Given the description of an element on the screen output the (x, y) to click on. 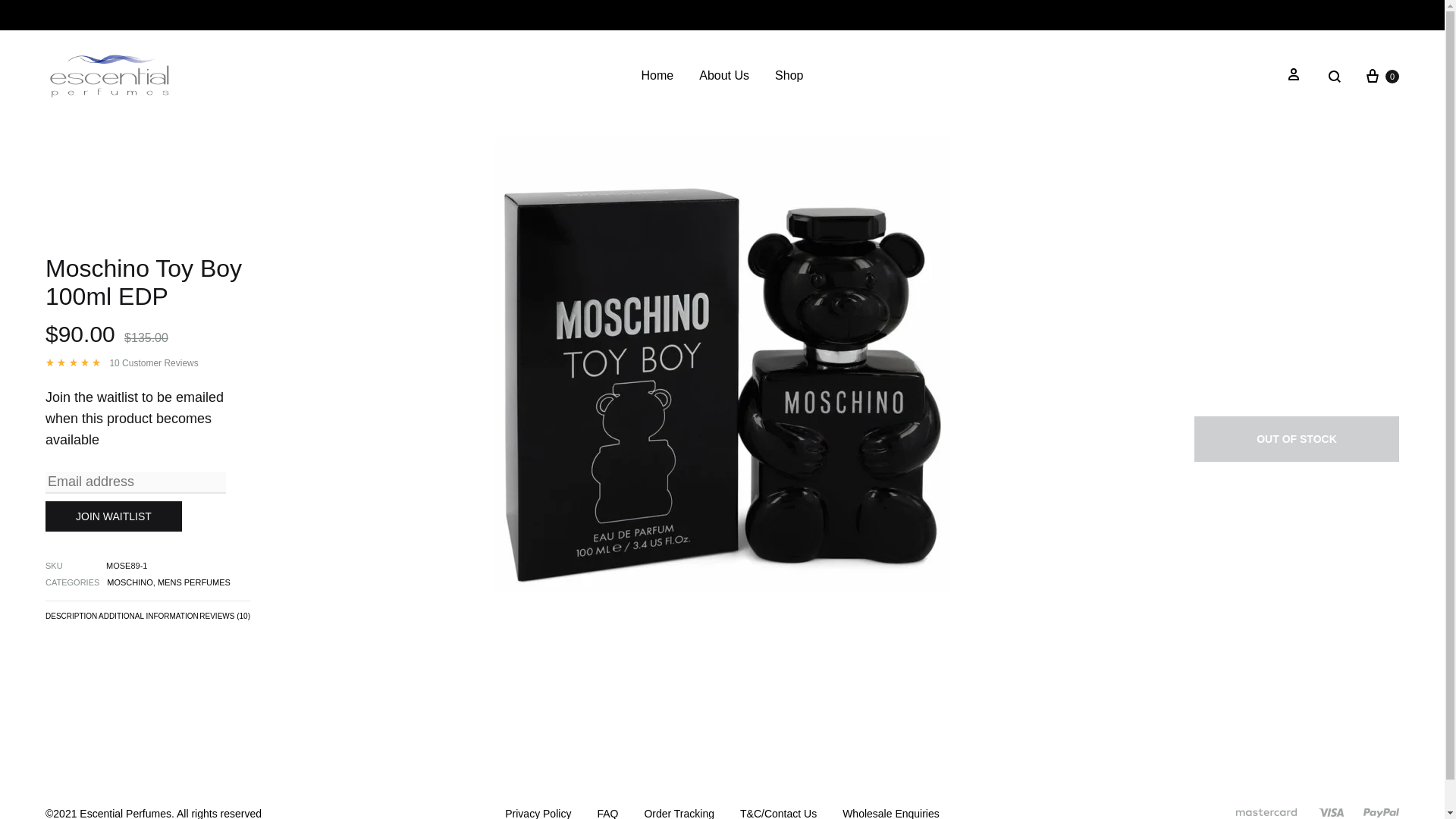
Privacy Policy (537, 812)
MOSCHINO (129, 582)
Order Tracking (678, 812)
Shop (788, 75)
DESCRIPTION (71, 619)
Wholesale Enquiries (891, 812)
About Us (723, 75)
JOIN WAITLIST (113, 516)
JOIN WAITLIST (113, 515)
Home (658, 75)
ADDITIONAL INFORMATION (148, 619)
10 Customer Reviews (153, 362)
0 (1380, 75)
MENS PERFUMES (193, 582)
